Given the description of an element on the screen output the (x, y) to click on. 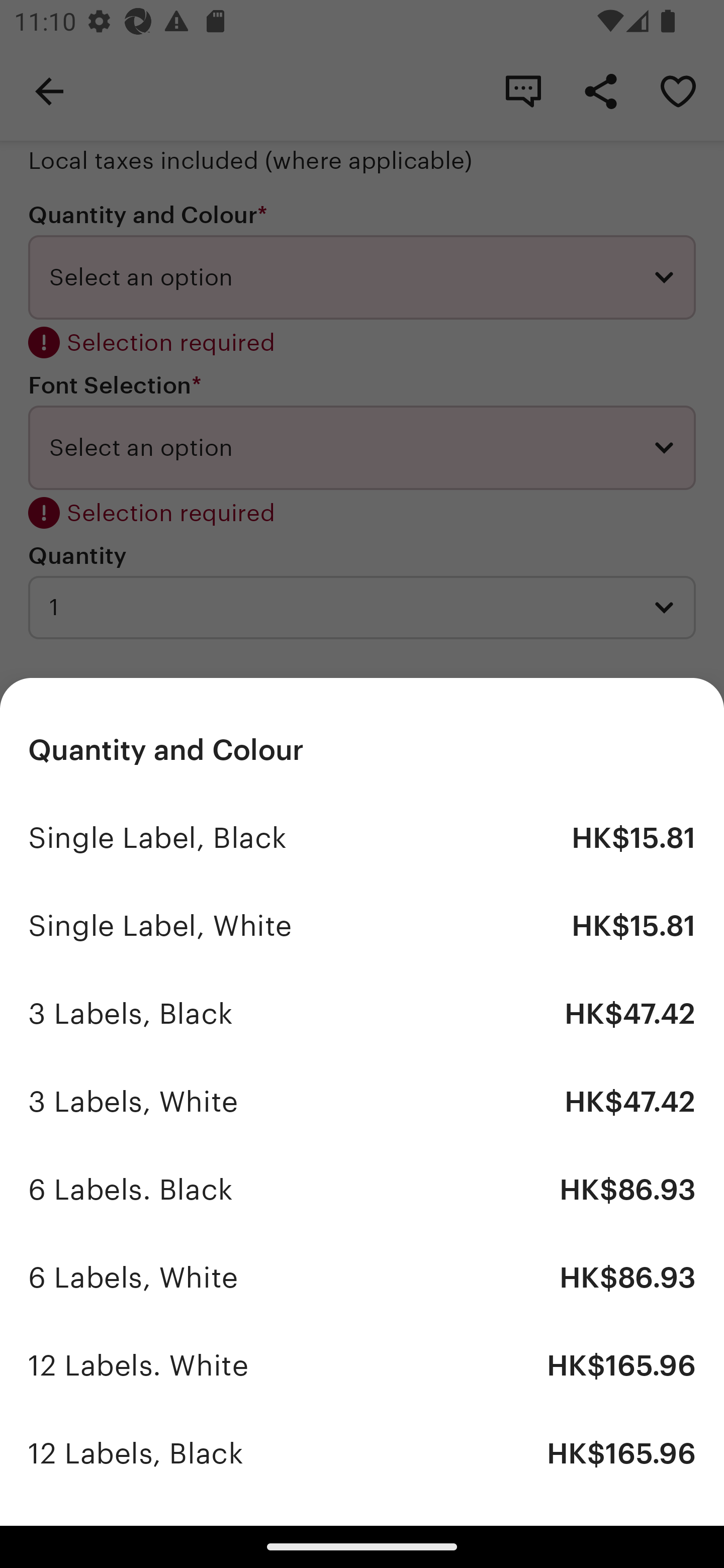
Single Label, Black HK$15.81 (362, 837)
Single Label, White HK$15.81 (362, 925)
3 Labels, Black HK$47.42 (362, 1014)
3 Labels, White HK$47.42 (362, 1102)
6 Labels. Black HK$86.93 (362, 1190)
6 Labels, White HK$86.93 (362, 1277)
12 Labels. White HK$165.96 (362, 1365)
12 Labels, Black HK$165.96 (362, 1453)
